Given the description of an element on the screen output the (x, y) to click on. 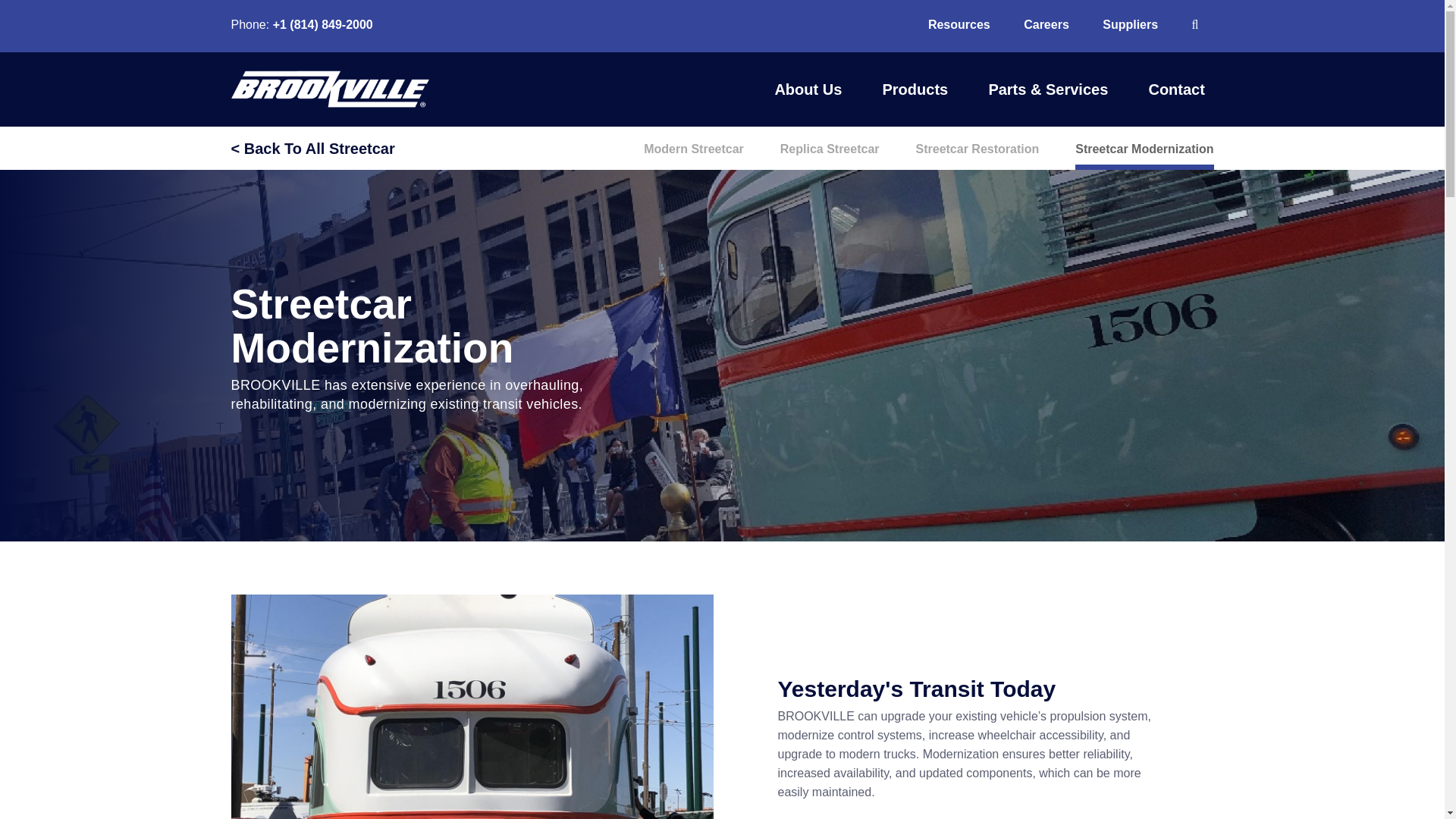
Suppliers (1129, 24)
Suppliers (1129, 24)
Resources (959, 24)
Products (914, 88)
Careers (1045, 24)
About Us (808, 88)
Resources (959, 24)
About Us (808, 88)
Careers (1045, 24)
Products (914, 88)
